Given the description of an element on the screen output the (x, y) to click on. 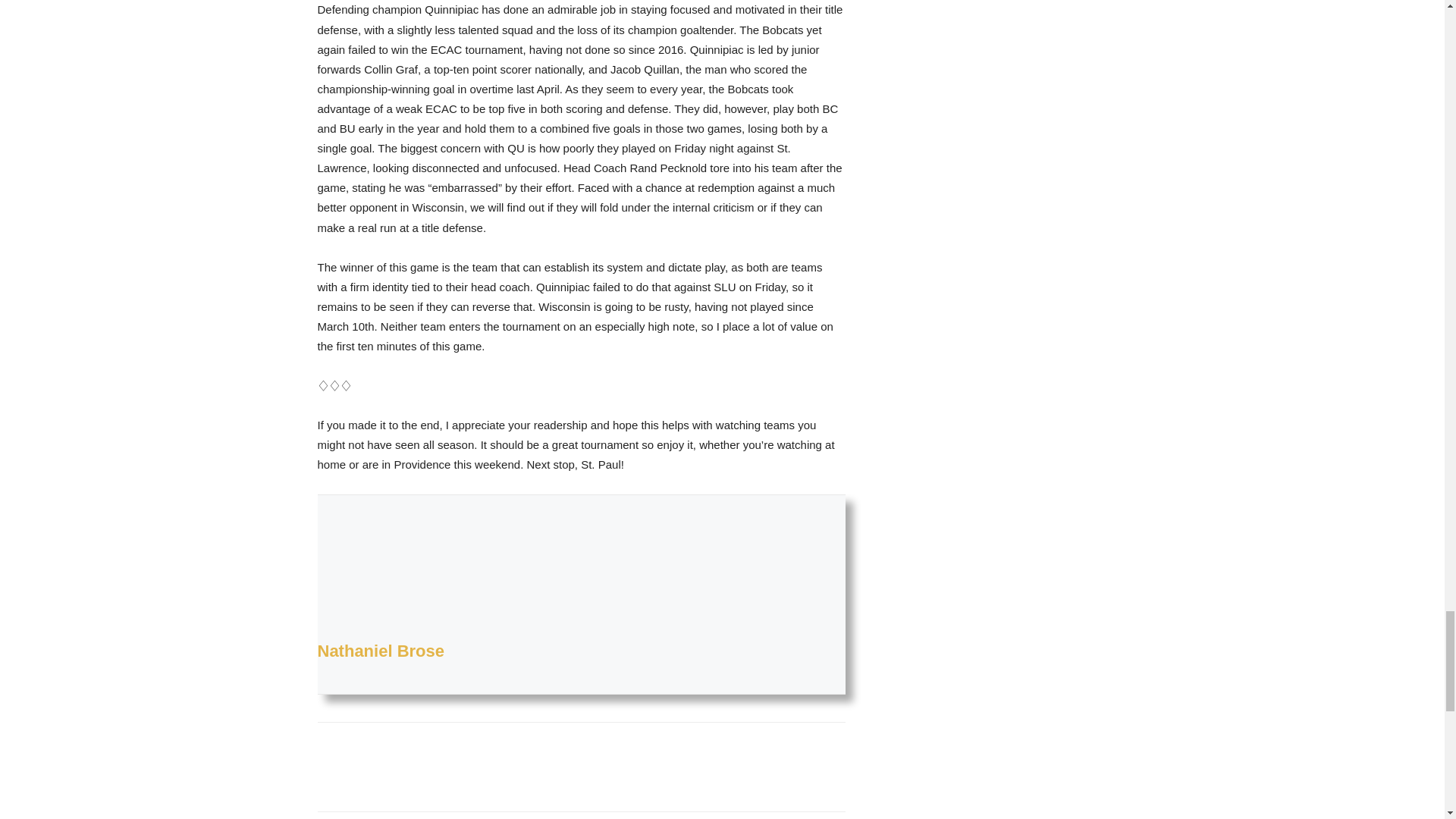
bottomFacebookLike (430, 746)
